Given the description of an element on the screen output the (x, y) to click on. 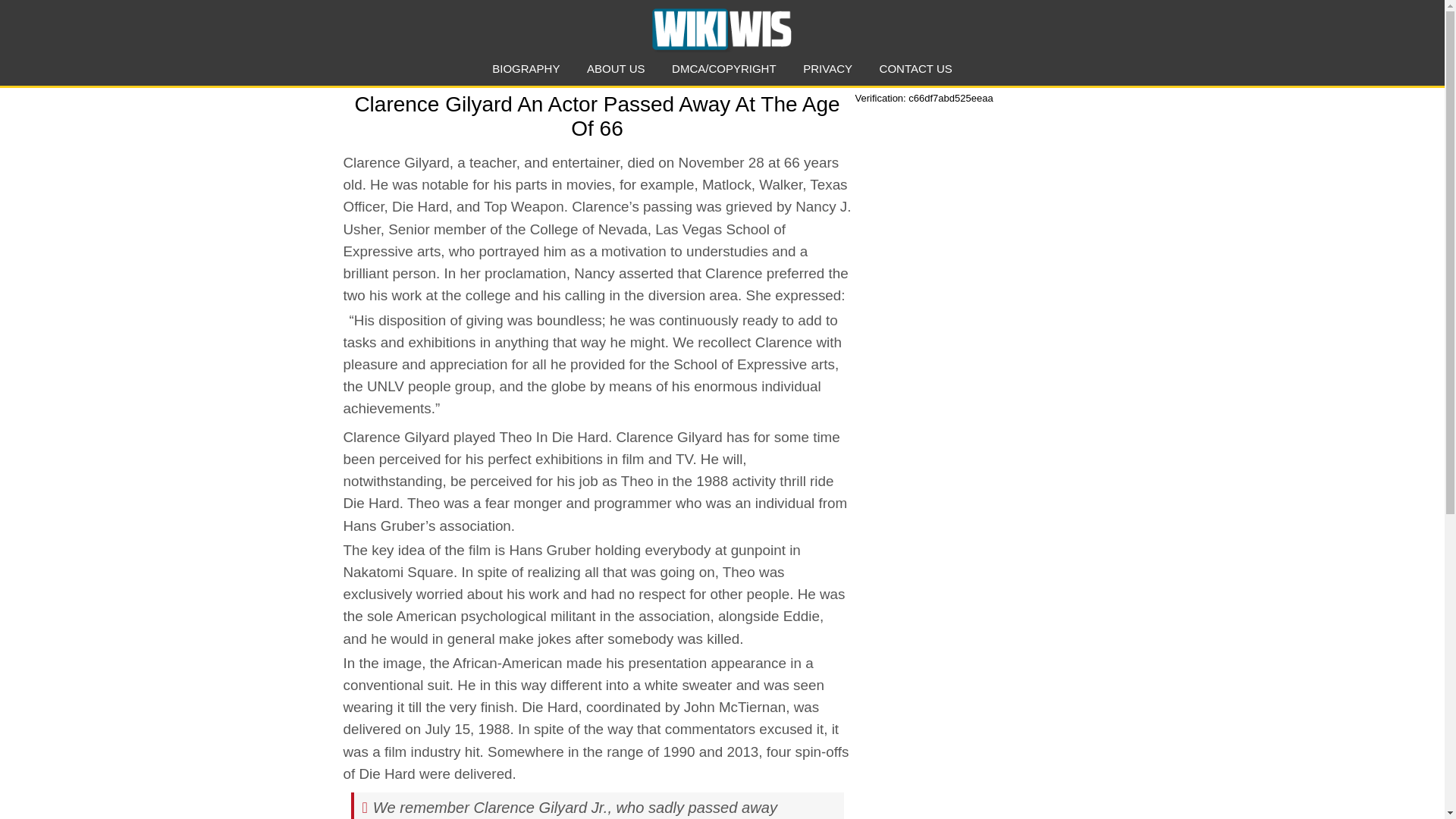
ABOUT US (615, 68)
PRIVACY (827, 68)
anasayfa (721, 29)
CONTACT US (915, 68)
BIOGRAPHY (525, 68)
